Given the description of an element on the screen output the (x, y) to click on. 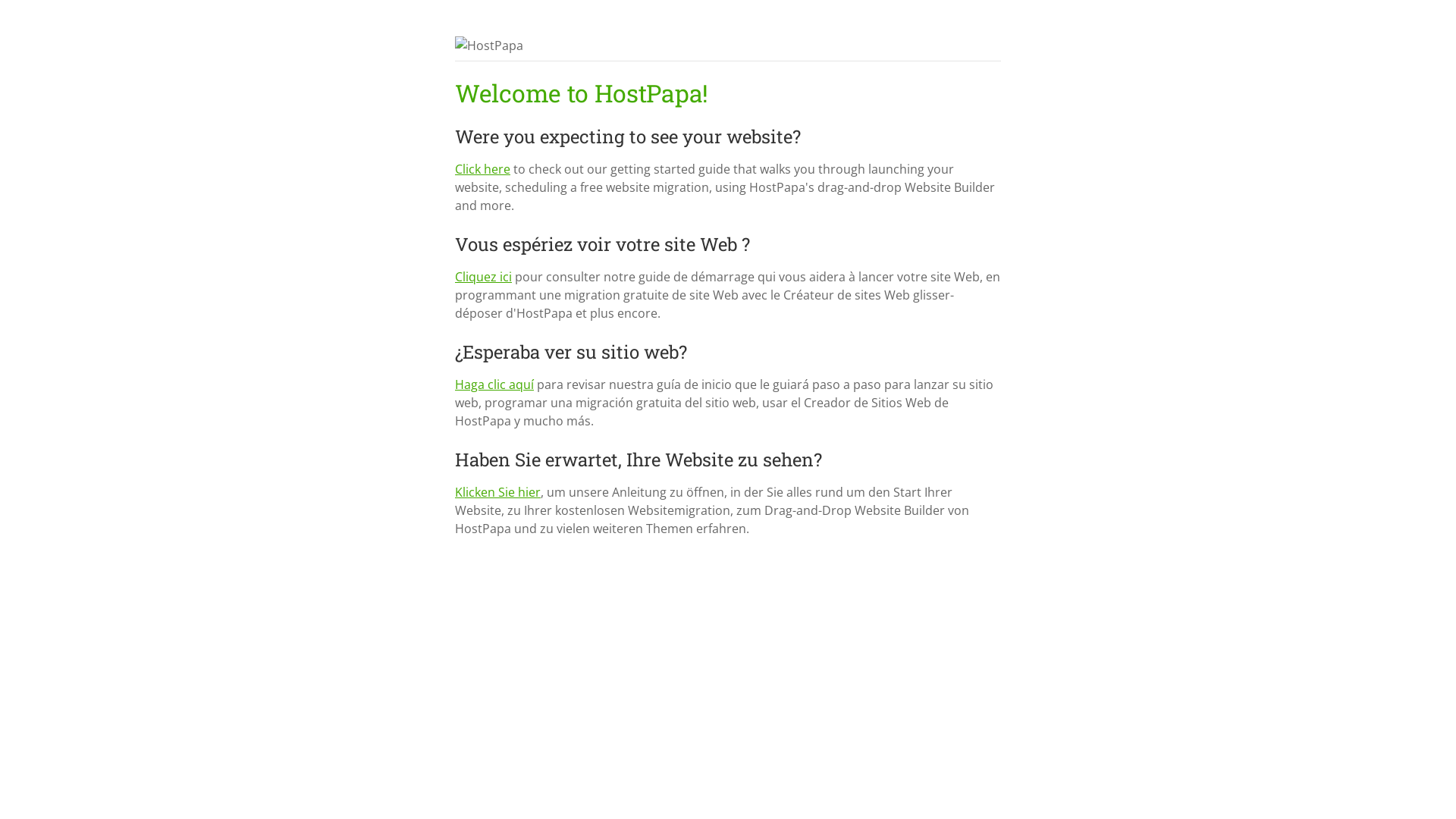
Klicken Sie hier Element type: text (497, 491)
Cliquez ici Element type: text (483, 276)
Click here Element type: text (482, 168)
